Given the description of an element on the screen output the (x, y) to click on. 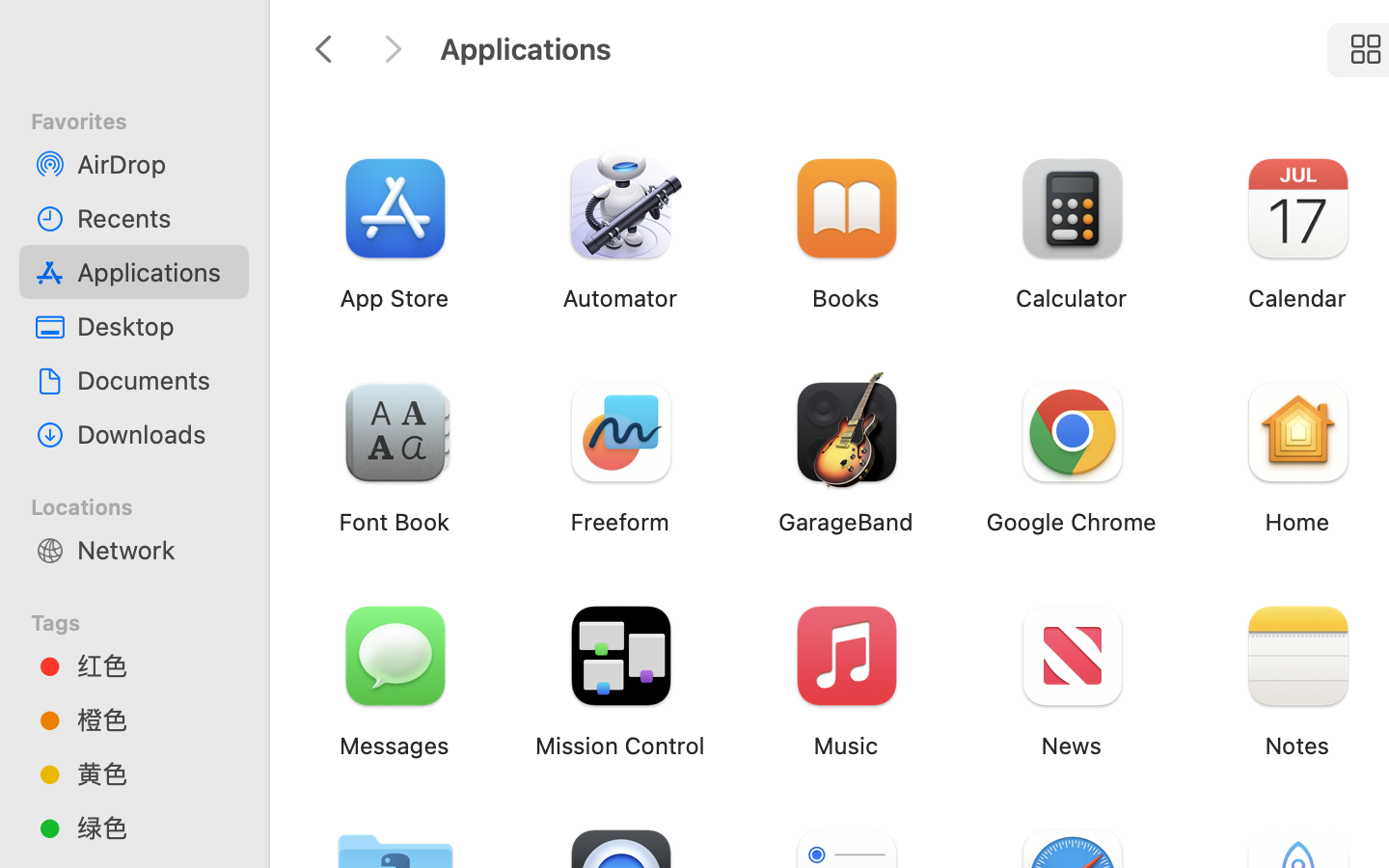
Tags Element type: AXStaticText (145, 619)
Recents Element type: AXStaticText (155, 217)
Applications Element type: AXStaticText (155, 271)
Documents Element type: AXStaticText (155, 379)
红色 Element type: AXStaticText (155, 665)
